Given the description of an element on the screen output the (x, y) to click on. 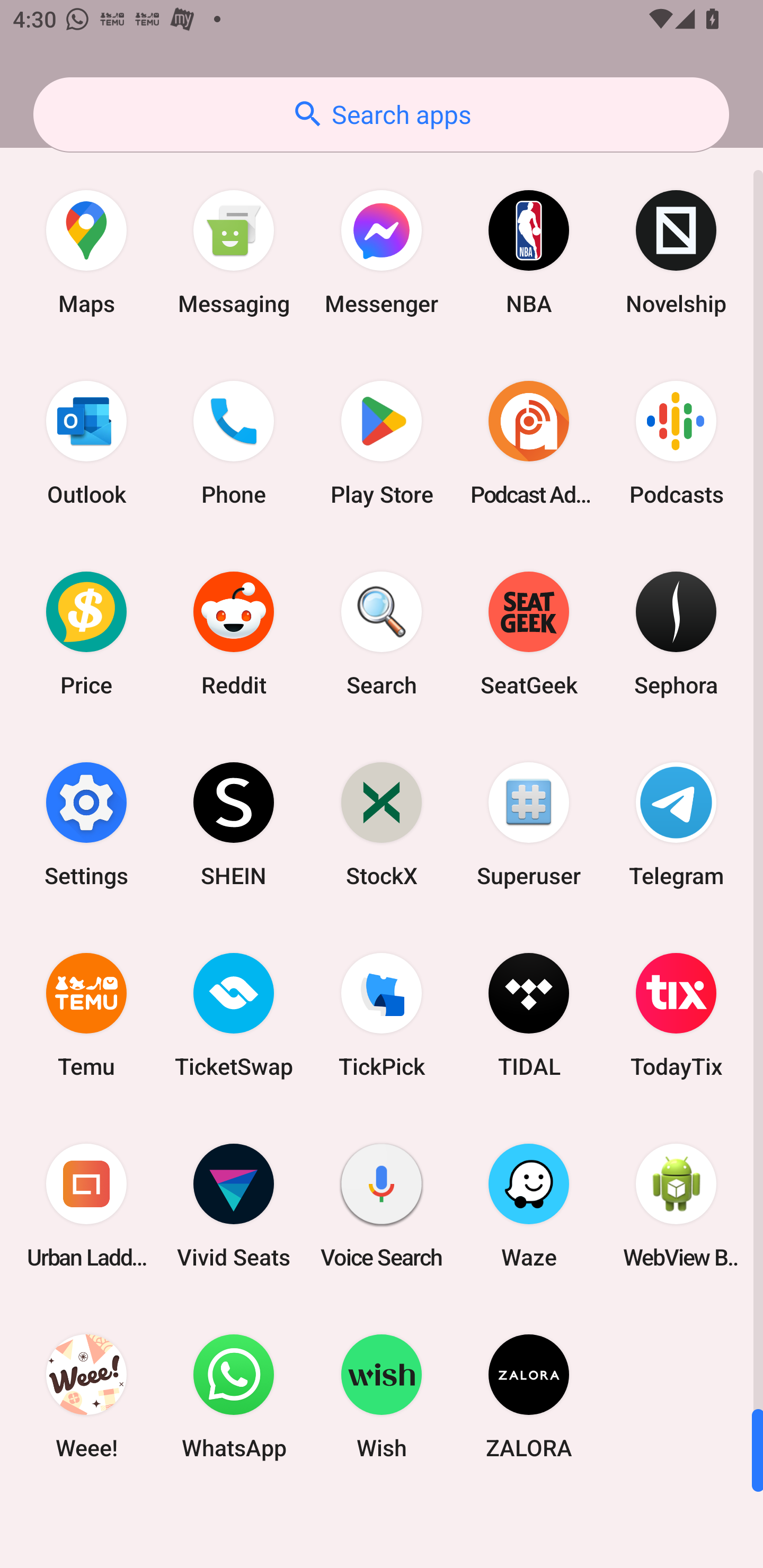
  Search apps (381, 114)
Maps (86, 252)
Messaging (233, 252)
Messenger (381, 252)
NBA (528, 252)
Novelship (676, 252)
Outlook (86, 442)
Phone (233, 442)
Play Store (381, 442)
Podcast Addict (528, 442)
Podcasts (676, 442)
Price (86, 633)
Reddit (233, 633)
Search (381, 633)
SeatGeek (528, 633)
Sephora (676, 633)
Settings (86, 823)
SHEIN (233, 823)
StockX (381, 823)
Superuser (528, 823)
Telegram (676, 823)
Temu (86, 1014)
TicketSwap (233, 1014)
TickPick (381, 1014)
TIDAL (528, 1014)
TodayTix (676, 1014)
Urban Ladder (86, 1205)
Vivid Seats (233, 1205)
Voice Search (381, 1205)
Waze (528, 1205)
WebView Browser Tester (676, 1205)
Weee! (86, 1396)
WhatsApp (233, 1396)
Wish (381, 1396)
ZALORA (528, 1396)
